Given the description of an element on the screen output the (x, y) to click on. 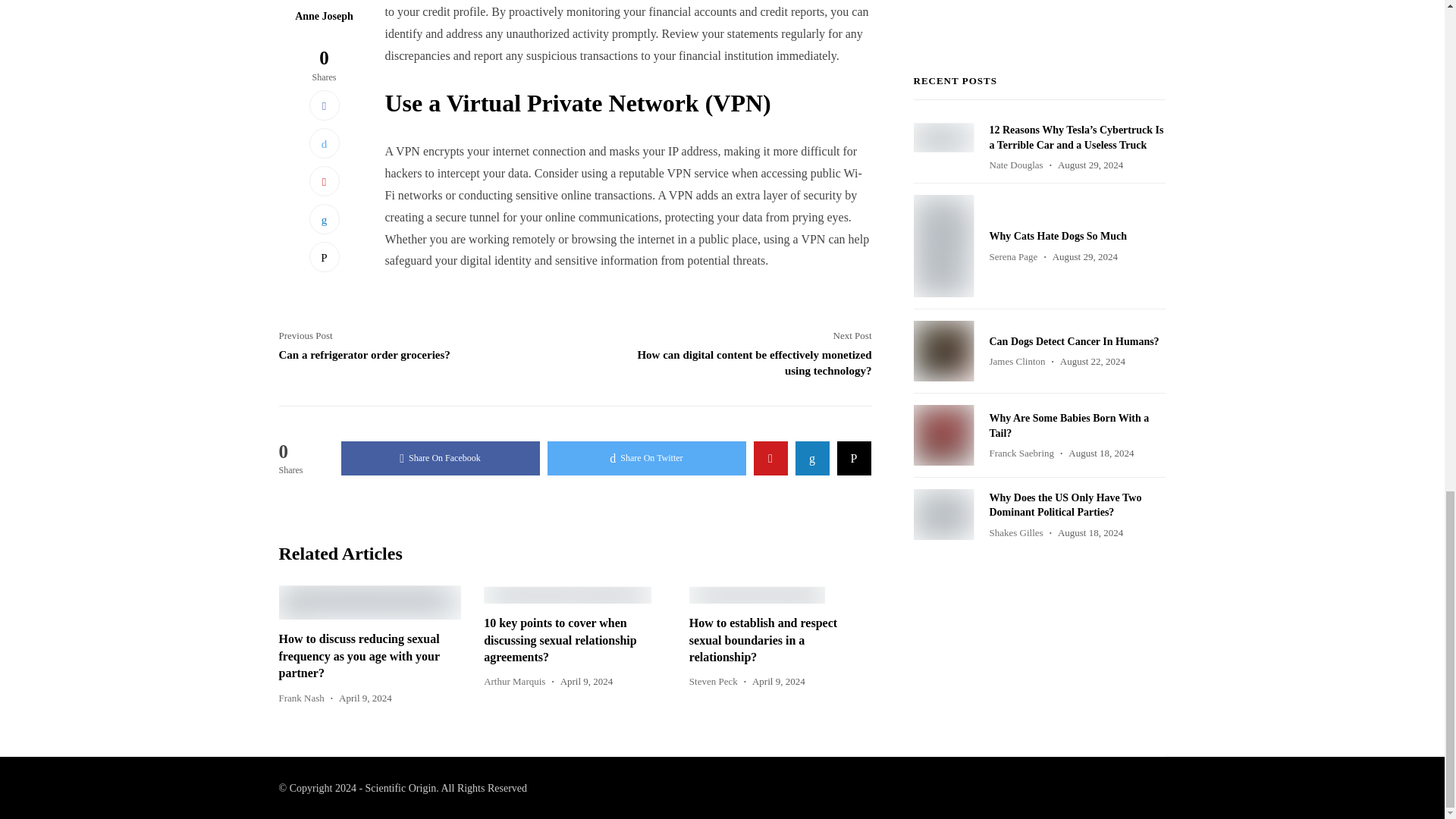
Posts by Steven Peck (713, 681)
Posts by Arthur Marquis (513, 681)
Posts by Frank Nash (301, 697)
